Given the description of an element on the screen output the (x, y) to click on. 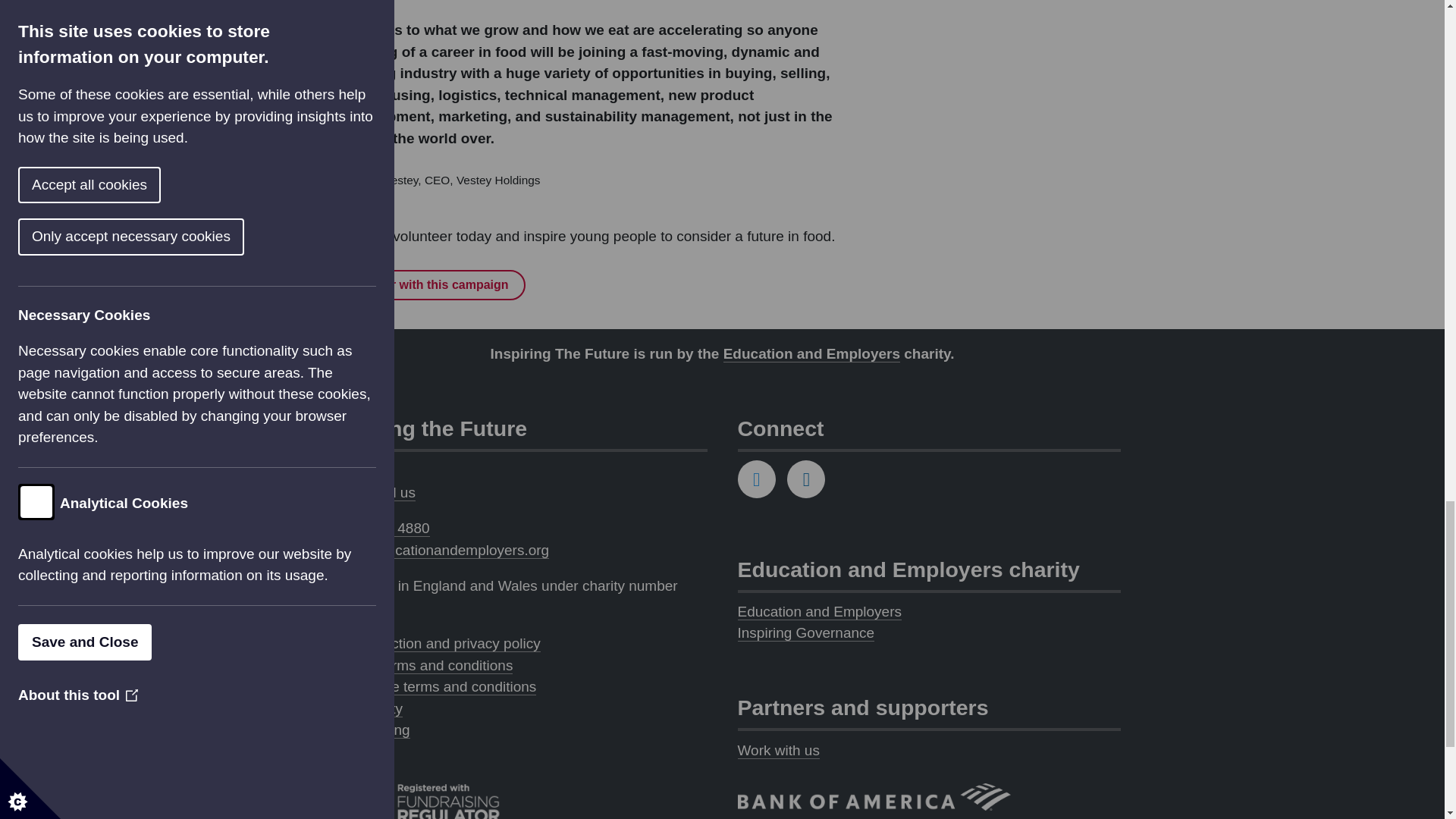
Education and Employers (811, 353)
Contact us (358, 470)
Volunteer with this campaign (424, 285)
